Given the description of an element on the screen output the (x, y) to click on. 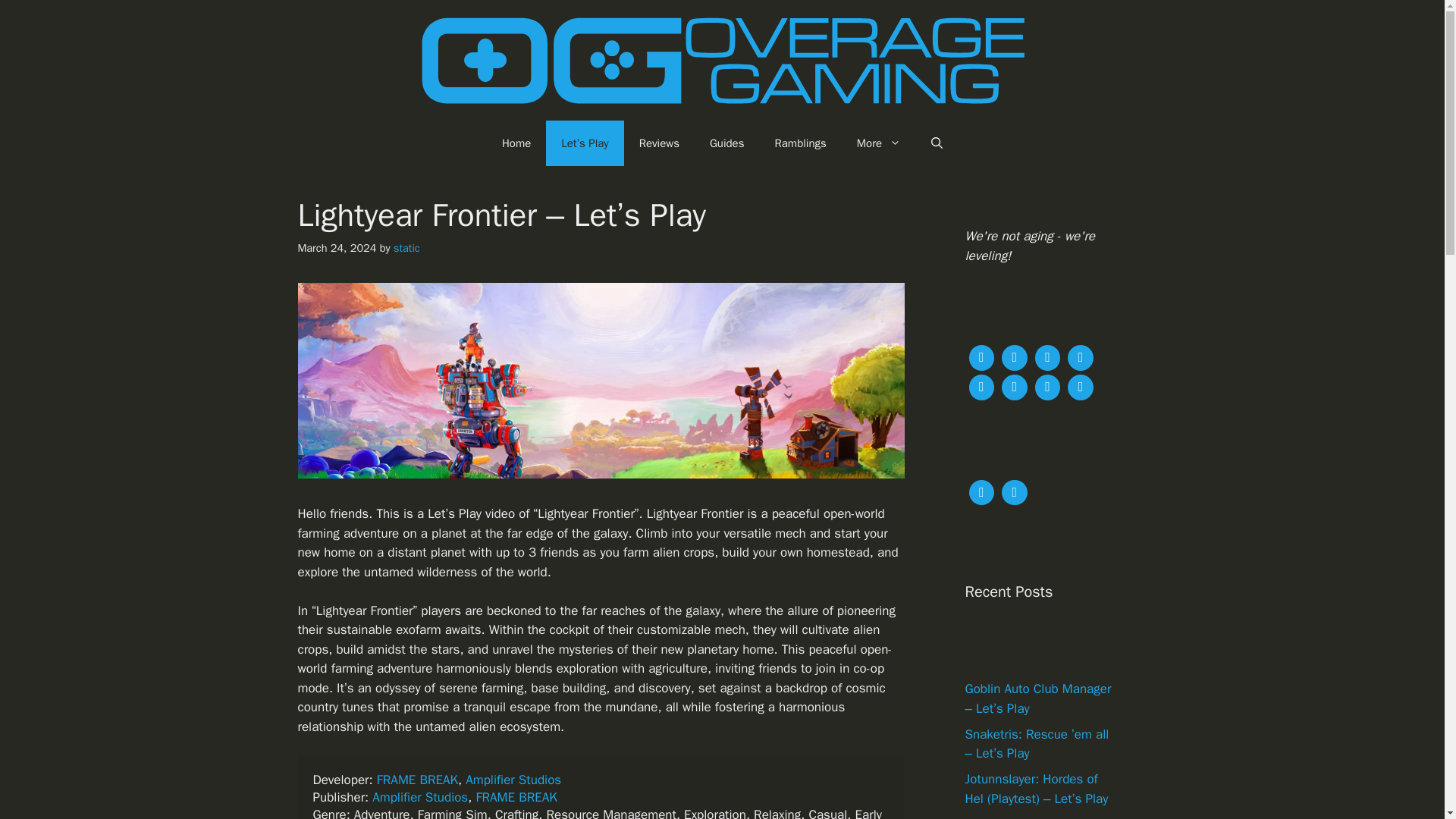
Ramblings (800, 143)
Discord (980, 385)
Steam (1080, 356)
View all posts by static (406, 247)
FRAME BREAK (417, 779)
static (406, 247)
Guides (727, 143)
Mastodon (1013, 356)
Reviews (659, 143)
X (980, 356)
Patreon (980, 490)
Home (516, 143)
Rss (1080, 385)
More (878, 143)
Mail (1047, 385)
